Given the description of an element on the screen output the (x, y) to click on. 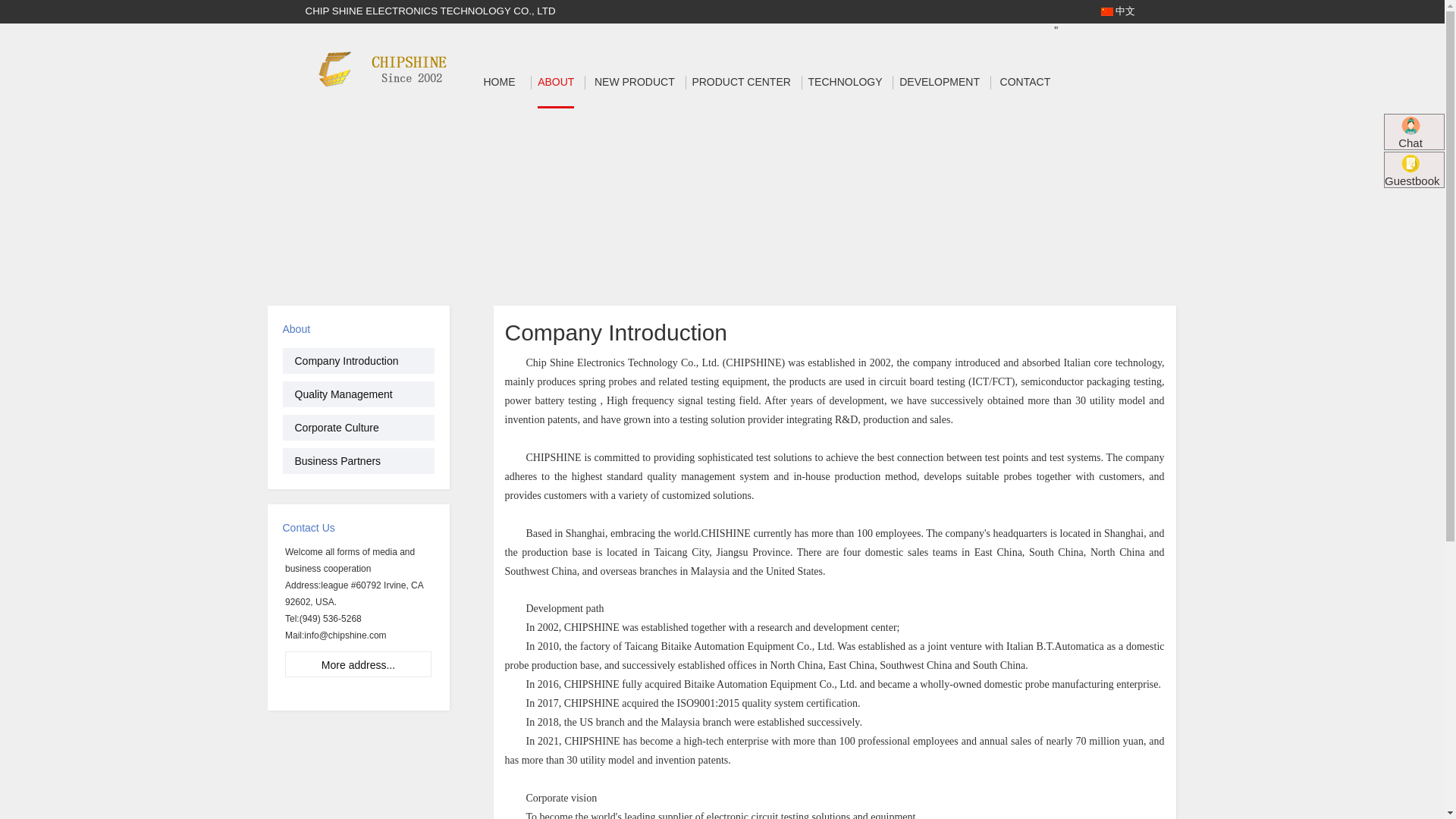
TECHNOLOGY (845, 81)
PRODUCT CENTER (740, 81)
DEVELOPMENT (939, 81)
CONTACT (1025, 81)
NEW PRODUCT (634, 81)
